Given the description of an element on the screen output the (x, y) to click on. 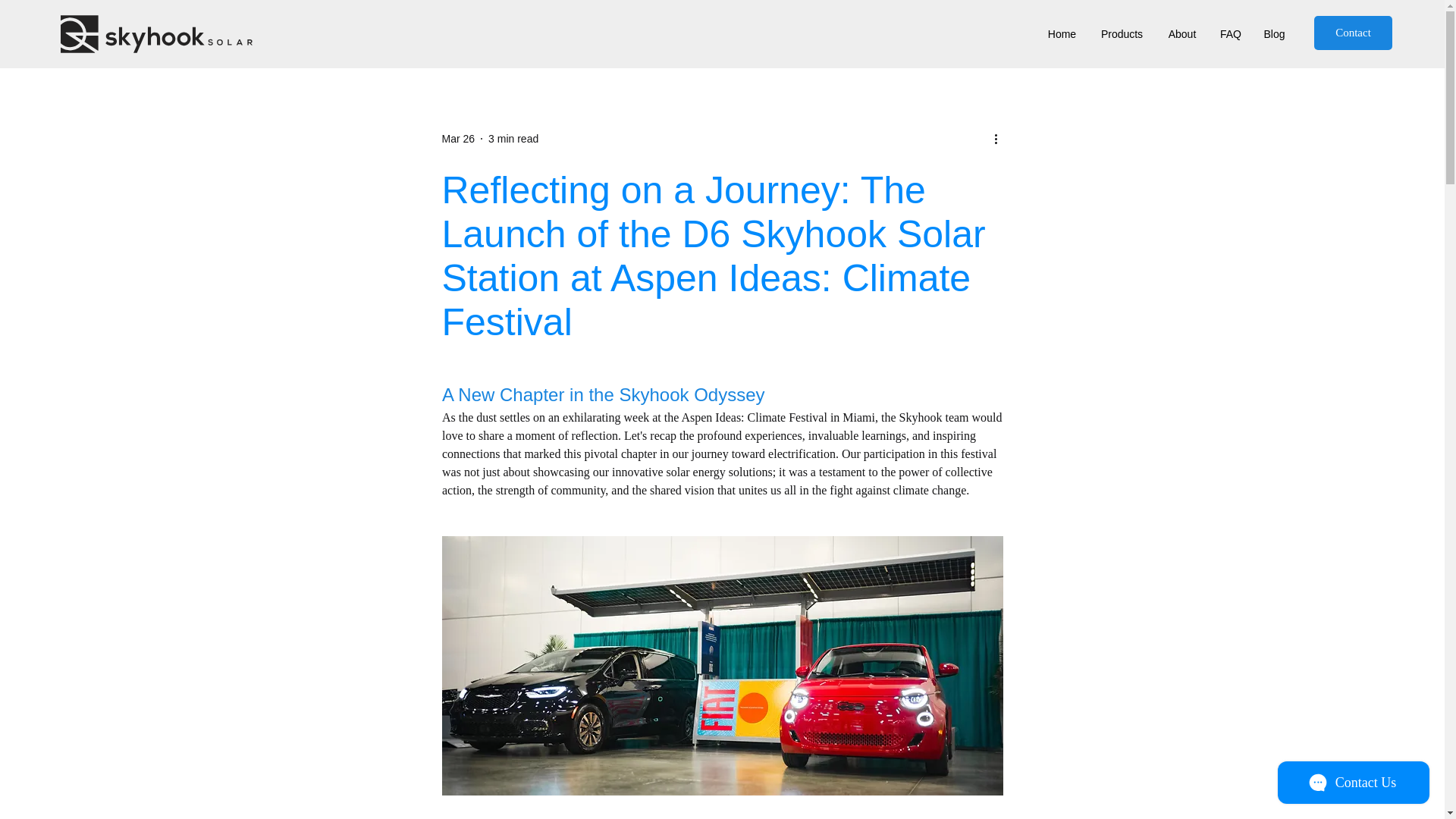
About (1182, 34)
Mar 26 (457, 137)
Home (1061, 34)
FAQ (1230, 34)
Contact (1352, 32)
Products (1121, 34)
Blog (1274, 34)
3 min read (512, 137)
